Given the description of an element on the screen output the (x, y) to click on. 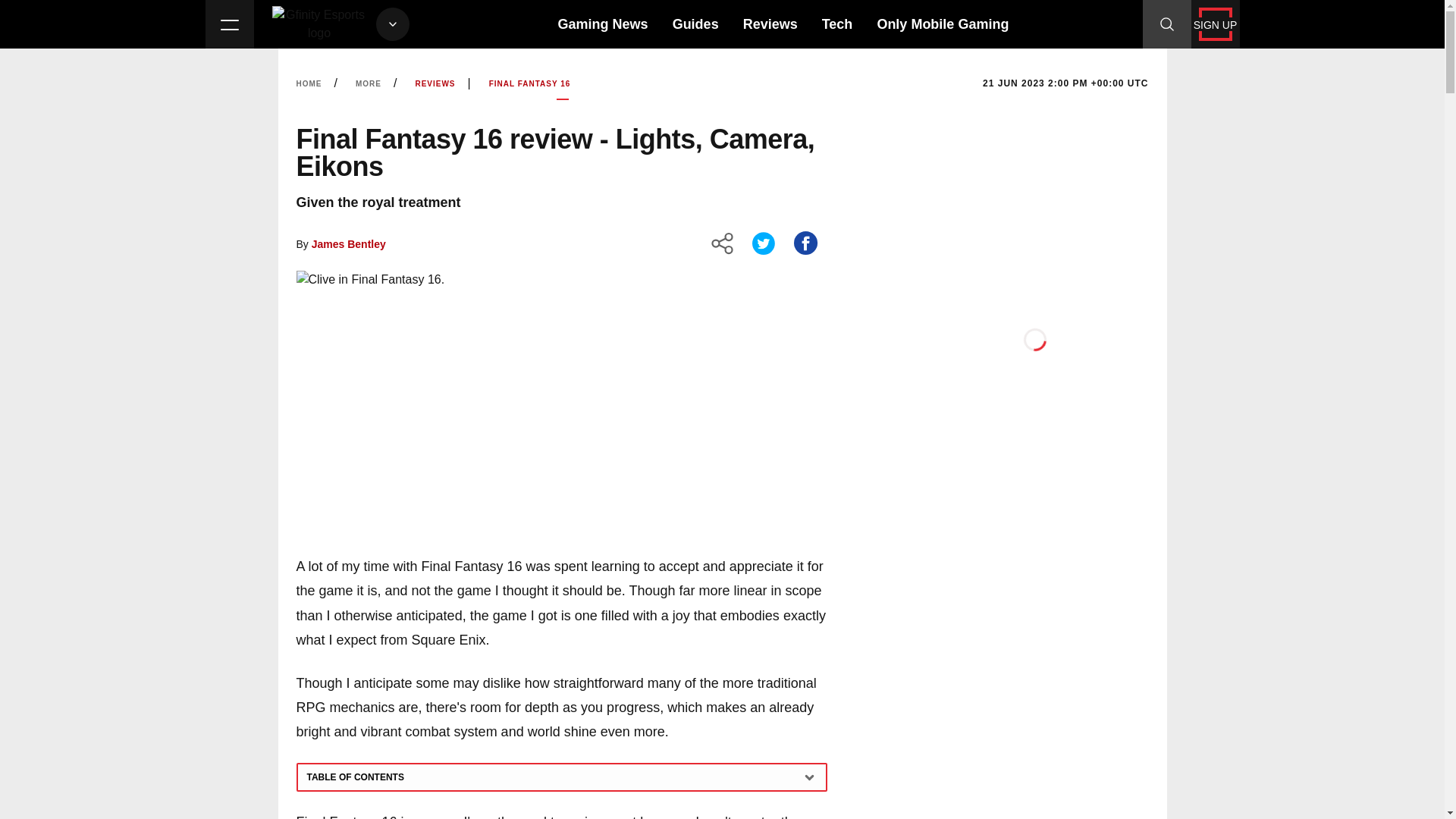
Only Mobile Gaming (942, 23)
Tech (837, 23)
SIGN UP (1215, 24)
Guides (695, 23)
Reviews (769, 23)
Gaming News (602, 23)
